Given the description of an element on the screen output the (x, y) to click on. 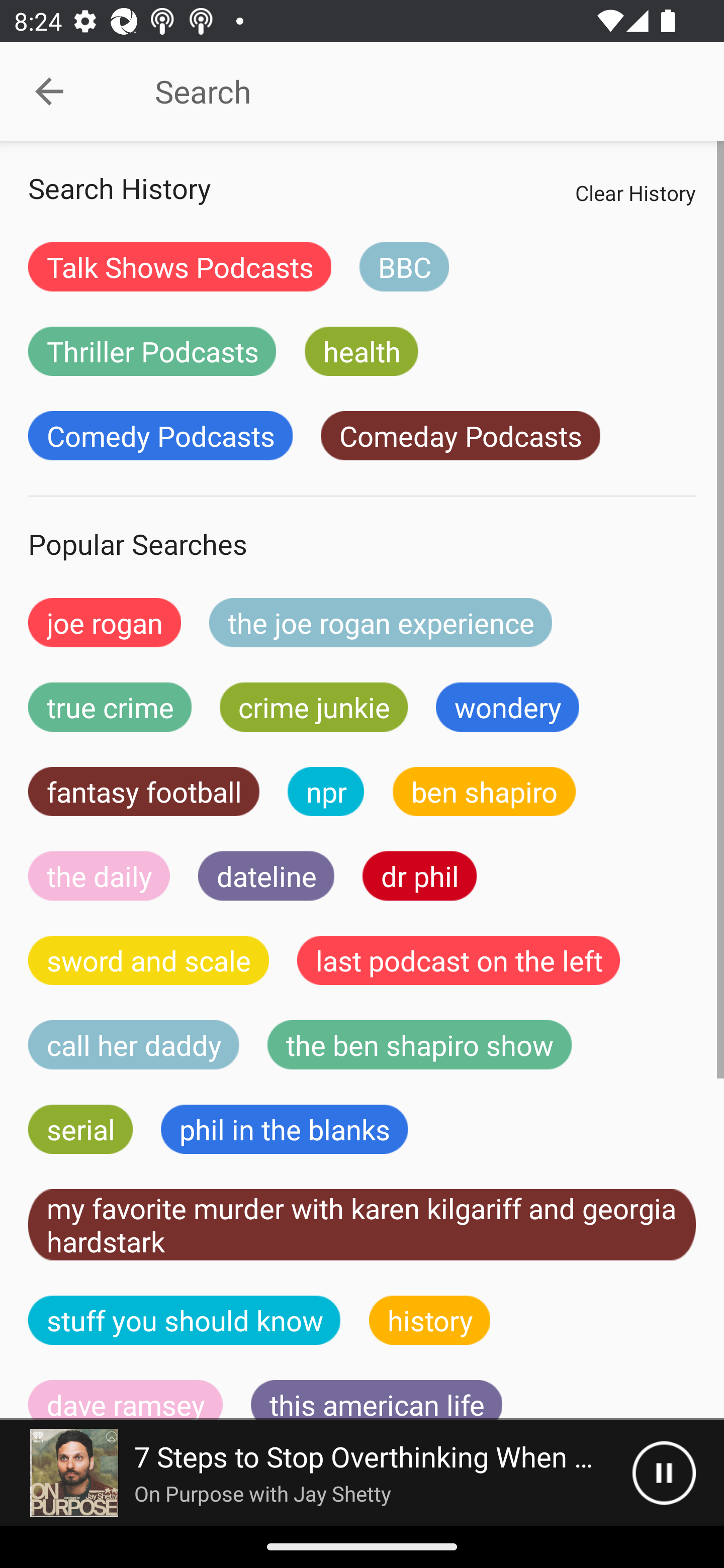
Collapse (49, 91)
Search (407, 91)
Clear History (634, 192)
Talk Shows Podcasts (179, 266)
BBC (403, 266)
Thriller Podcasts (152, 351)
health (361, 351)
Comedy Podcasts (160, 435)
Comeday Podcasts (460, 435)
joe rogan (104, 622)
the joe rogan experience (380, 622)
true crime (109, 707)
crime junkie (313, 707)
wondery (507, 707)
fantasy football (143, 791)
npr (325, 791)
ben shapiro (483, 791)
the daily (99, 875)
dateline (266, 875)
dr phil (419, 875)
sword and scale (148, 960)
last podcast on the left (458, 960)
call her daddy (133, 1044)
the ben shapiro show (419, 1044)
serial (80, 1128)
phil in the blanks (283, 1128)
stuff you should know (184, 1320)
history (429, 1320)
dave ramsey (125, 1399)
this american life (376, 1399)
Pause (663, 1472)
